Given the description of an element on the screen output the (x, y) to click on. 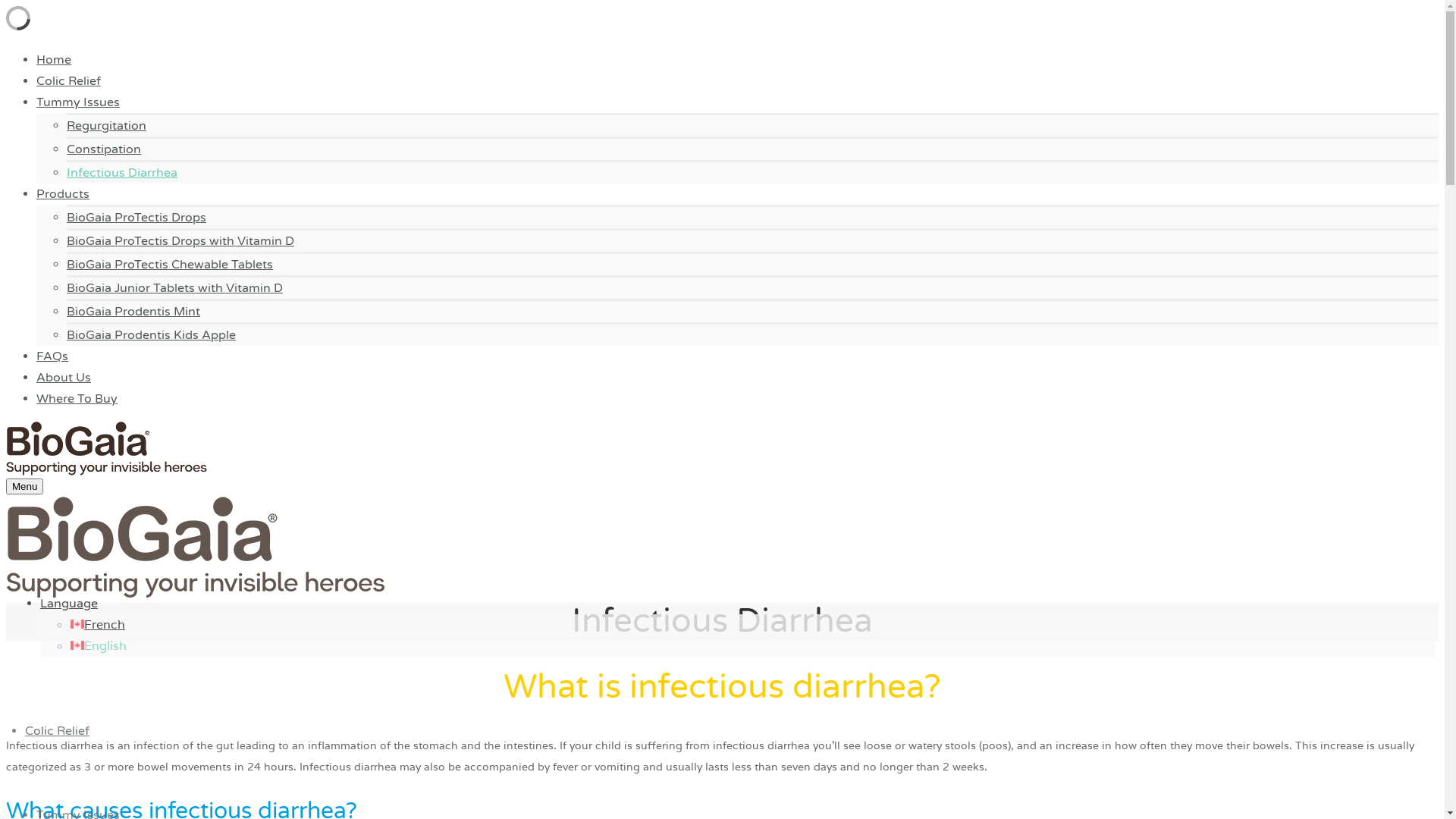
FAQs Element type: text (52, 356)
BioGaia ProTectis Drops with Vitamin D Element type: text (180, 240)
Language Element type: text (68, 603)
Products Element type: text (62, 193)
Colic Relief Element type: text (57, 730)
Where To Buy Element type: text (76, 398)
French Element type: text (97, 624)
Home Element type: text (53, 59)
BioGaia ProTectis Drops Element type: text (136, 217)
BioGaia Prodentis Kids Apple Element type: text (150, 334)
BioGaia Junior Tablets with Vitamin D Element type: text (174, 287)
Tummy Issues Element type: text (77, 101)
Constipation Element type: text (103, 148)
BioGaia ProTectis Chewable Tablets Element type: text (169, 264)
About Us Element type: text (63, 377)
BioGaia Prodentis Mint Element type: text (133, 311)
Regurgitation Element type: text (106, 125)
Infectious Diarrhea Element type: text (121, 172)
Colic Relief Element type: text (68, 80)
Menu Element type: text (24, 486)
